Given the description of an element on the screen output the (x, y) to click on. 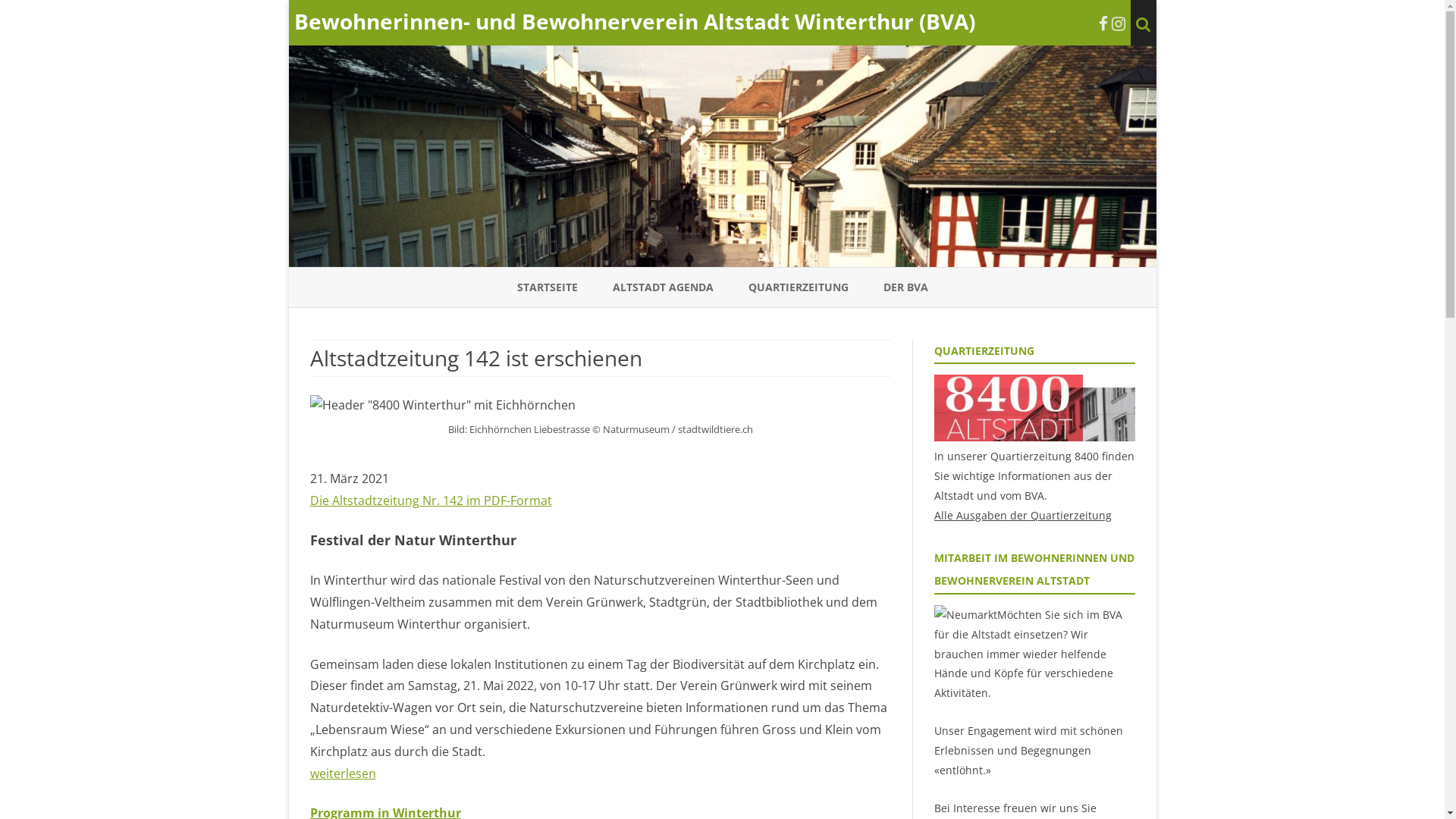
Bewohnerinnen- und Bewohnerverein Altstadt Winterthur (BVA) Element type: text (634, 20)
QUARTIERZEITUNG Element type: text (797, 287)
STARTSEITE Element type: text (547, 287)
Alle Ausgaben der Quartierzeitung Element type: text (1022, 515)
Die Altstadtzeitung Nr. 142 im PDF-Format Element type: text (430, 500)
DER BVA Element type: text (904, 287)
weiterlesen Element type: text (342, 773)
Skip to content Element type: text (721, 266)
Facebook Element type: hover (1102, 23)
ALTSTADT AGENDA Element type: text (662, 287)
Instagram Element type: hover (1118, 23)
